Given the description of an element on the screen output the (x, y) to click on. 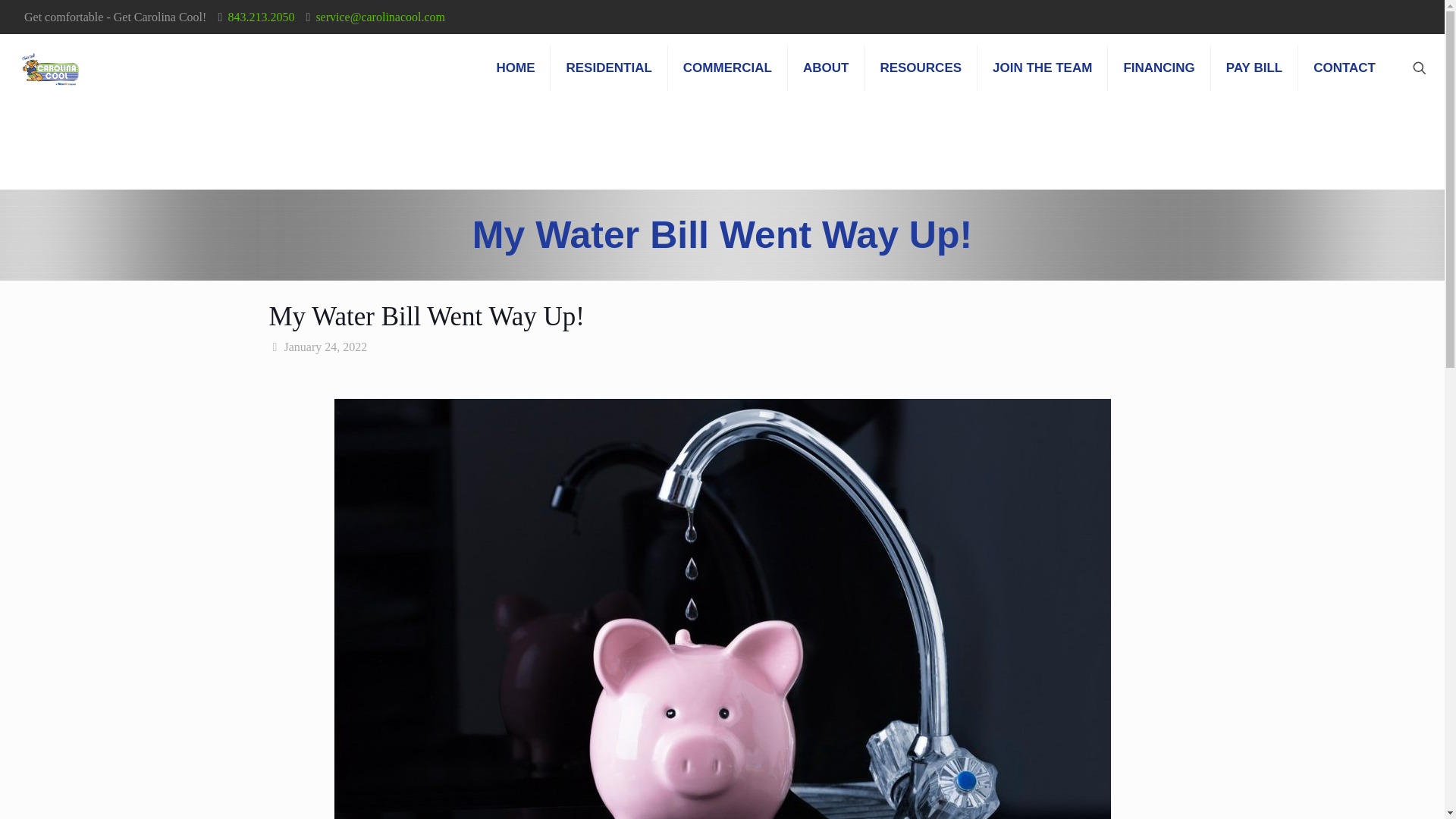
HOME (515, 68)
COMMERCIAL (727, 68)
843.213.2050 (260, 16)
Carolina Cool (49, 68)
RESIDENTIAL (608, 68)
ABOUT (825, 68)
